Given the description of an element on the screen output the (x, y) to click on. 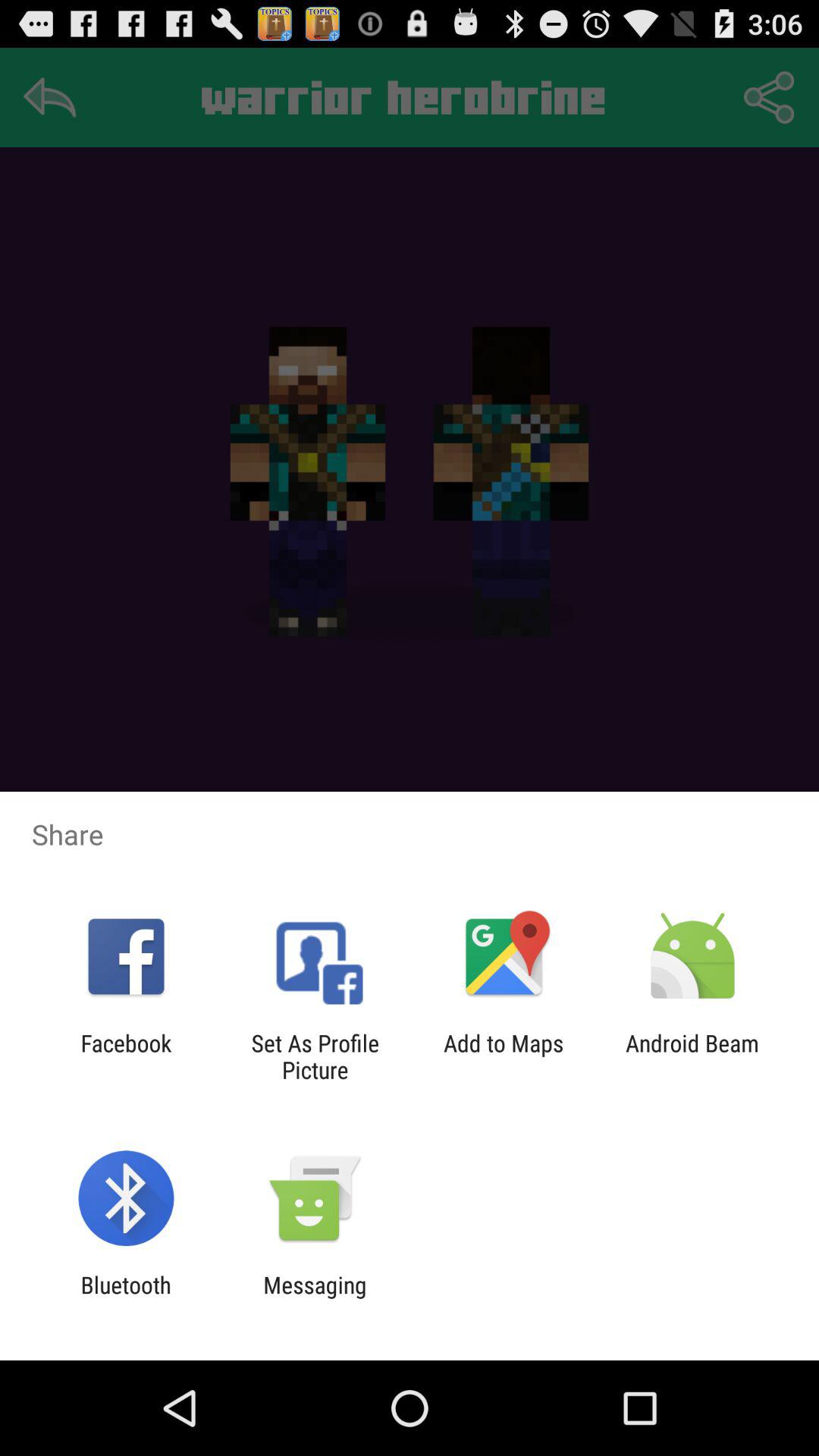
tap item to the left of add to maps icon (314, 1056)
